Given the description of an element on the screen output the (x, y) to click on. 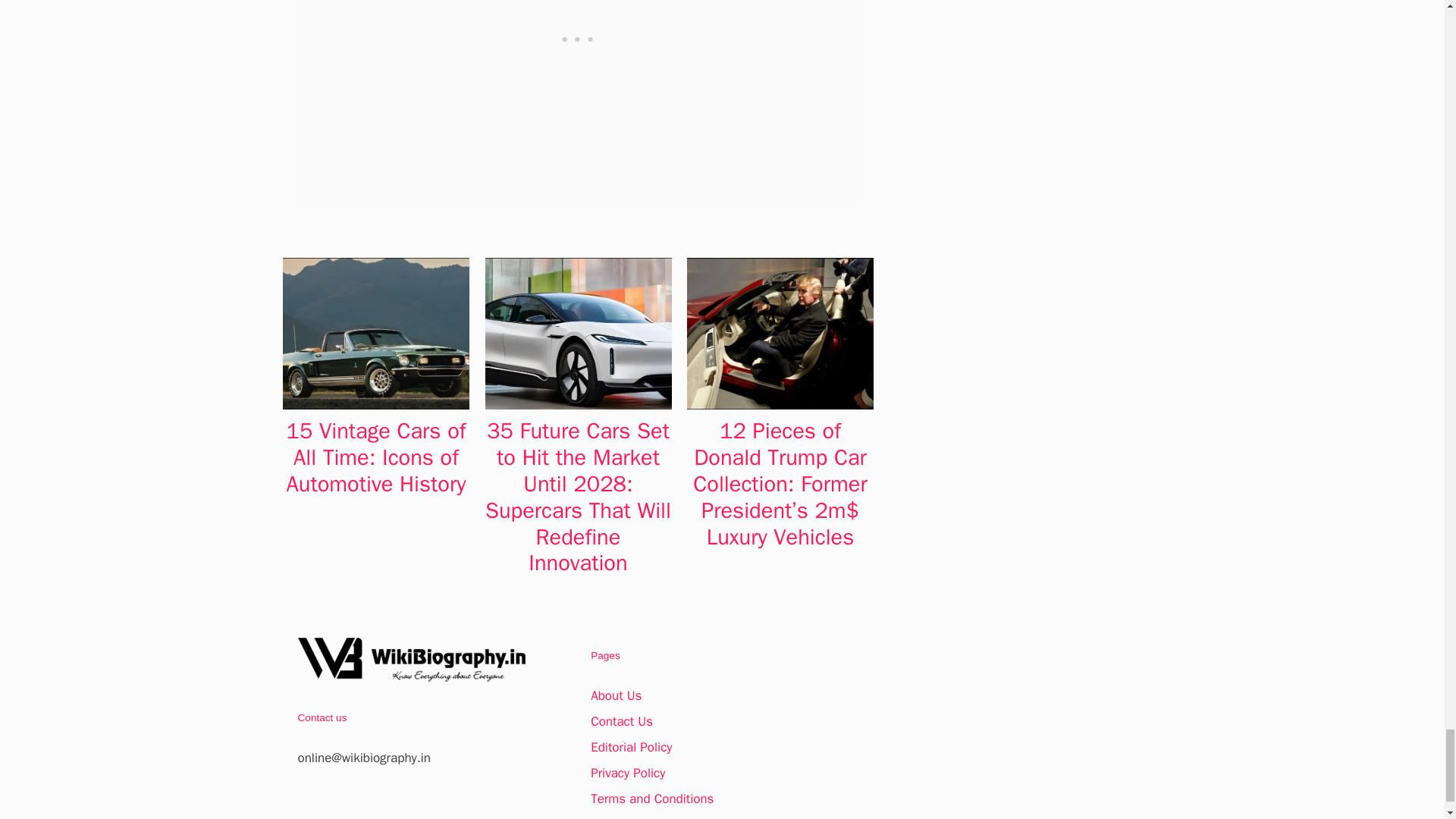
15 Vintage Cars of All Time: Icons of Automotive History (375, 456)
